Given the description of an element on the screen output the (x, y) to click on. 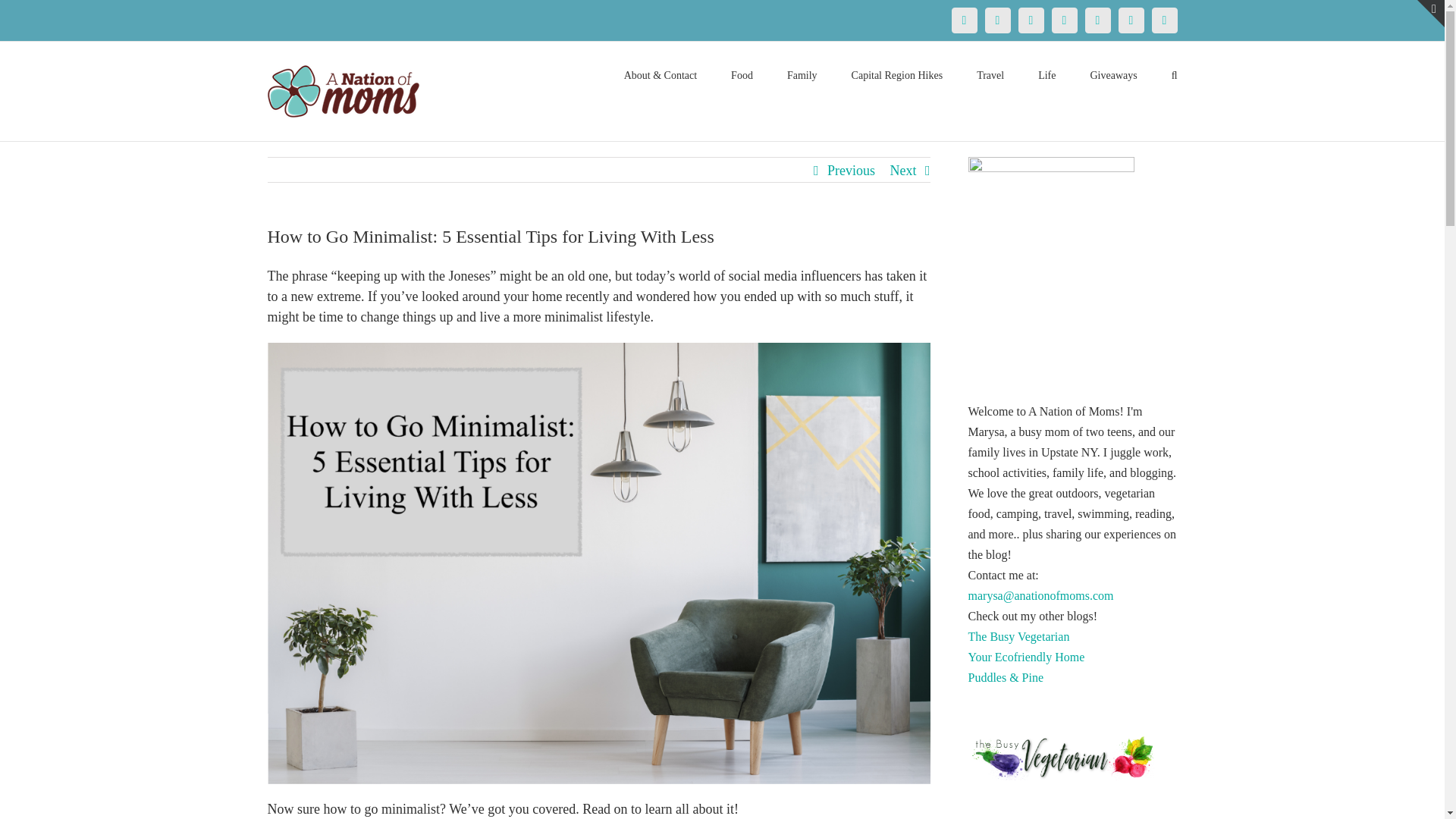
YouTube (1096, 20)
Facebook (963, 20)
Email (1163, 20)
Instagram (1064, 20)
Twitter (997, 20)
Instagram (1064, 20)
Facebook (963, 20)
Pinterest (1030, 20)
Twitter (997, 20)
Pinterest (1030, 20)
